Given the description of an element on the screen output the (x, y) to click on. 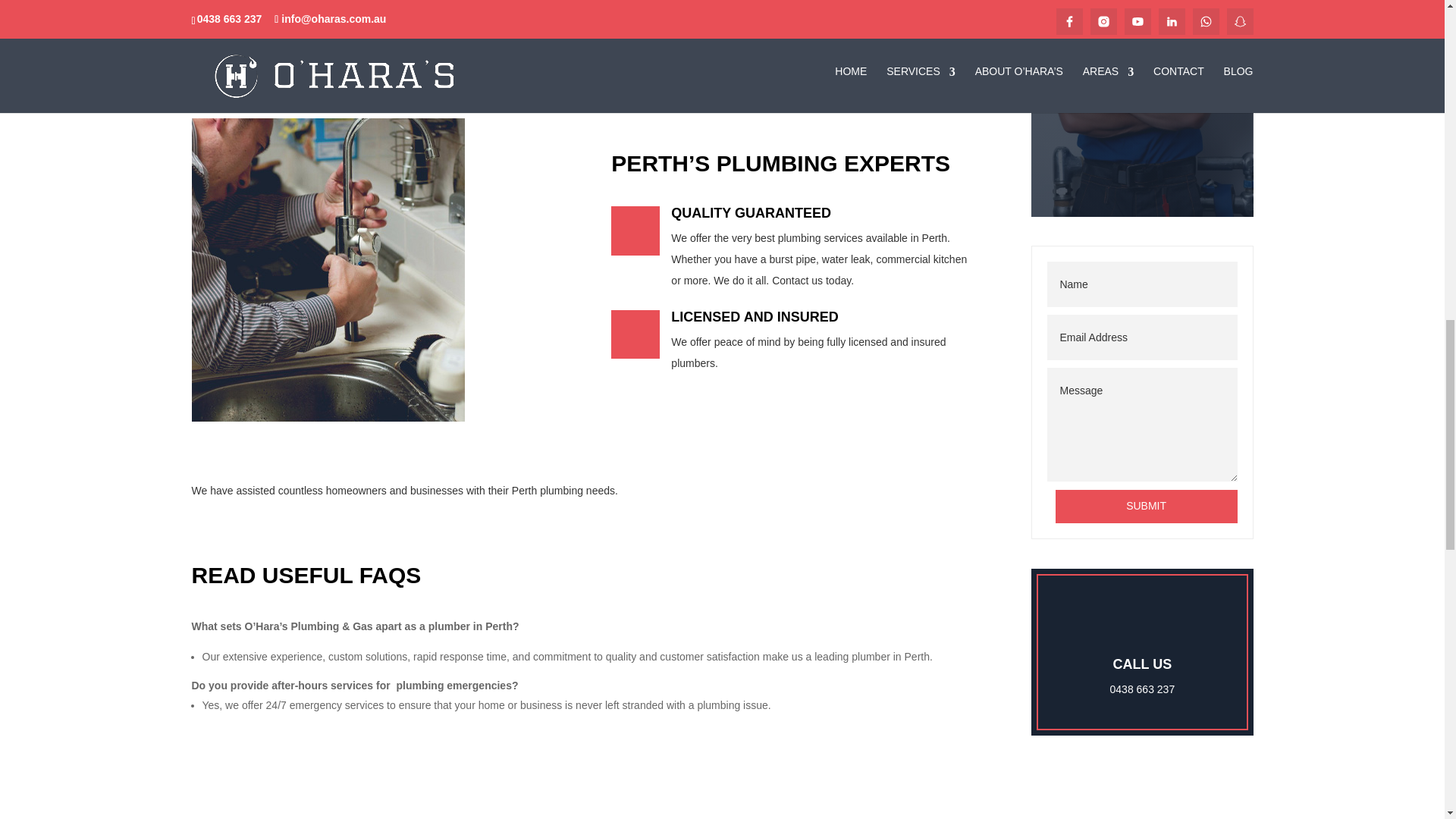
plumbing-service (327, 269)
